Given the description of an element on the screen output the (x, y) to click on. 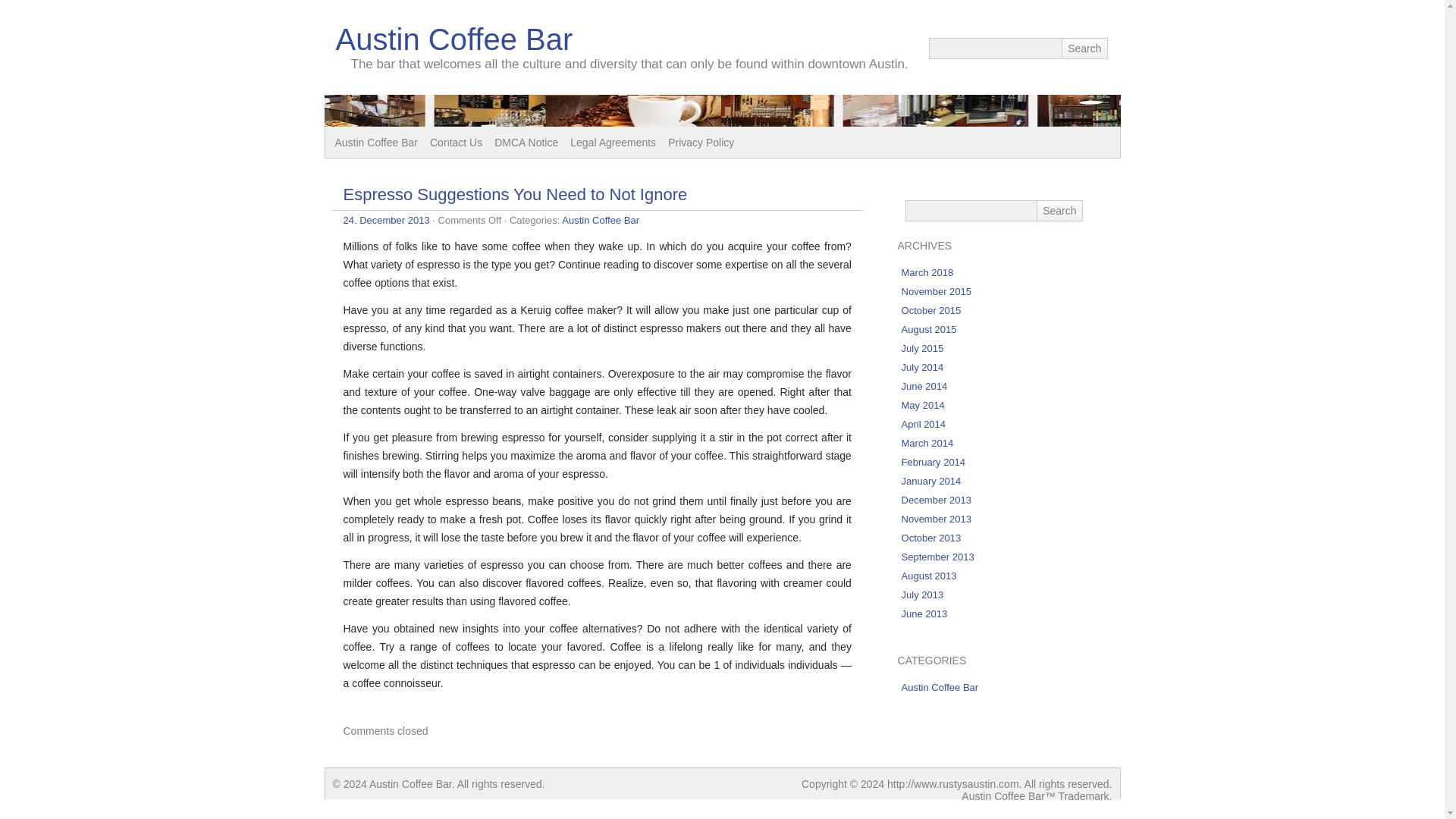
June 2013 (924, 613)
Austin Coffee Bar (453, 39)
Search (1058, 210)
DMCA Notice (525, 142)
Espresso Suggestions You Need to Not Ignore (514, 194)
July 2013 (922, 594)
Search (1058, 210)
March 2018 (927, 272)
Austin Coffee Bar (600, 220)
September 2013 (937, 556)
